Given the description of an element on the screen output the (x, y) to click on. 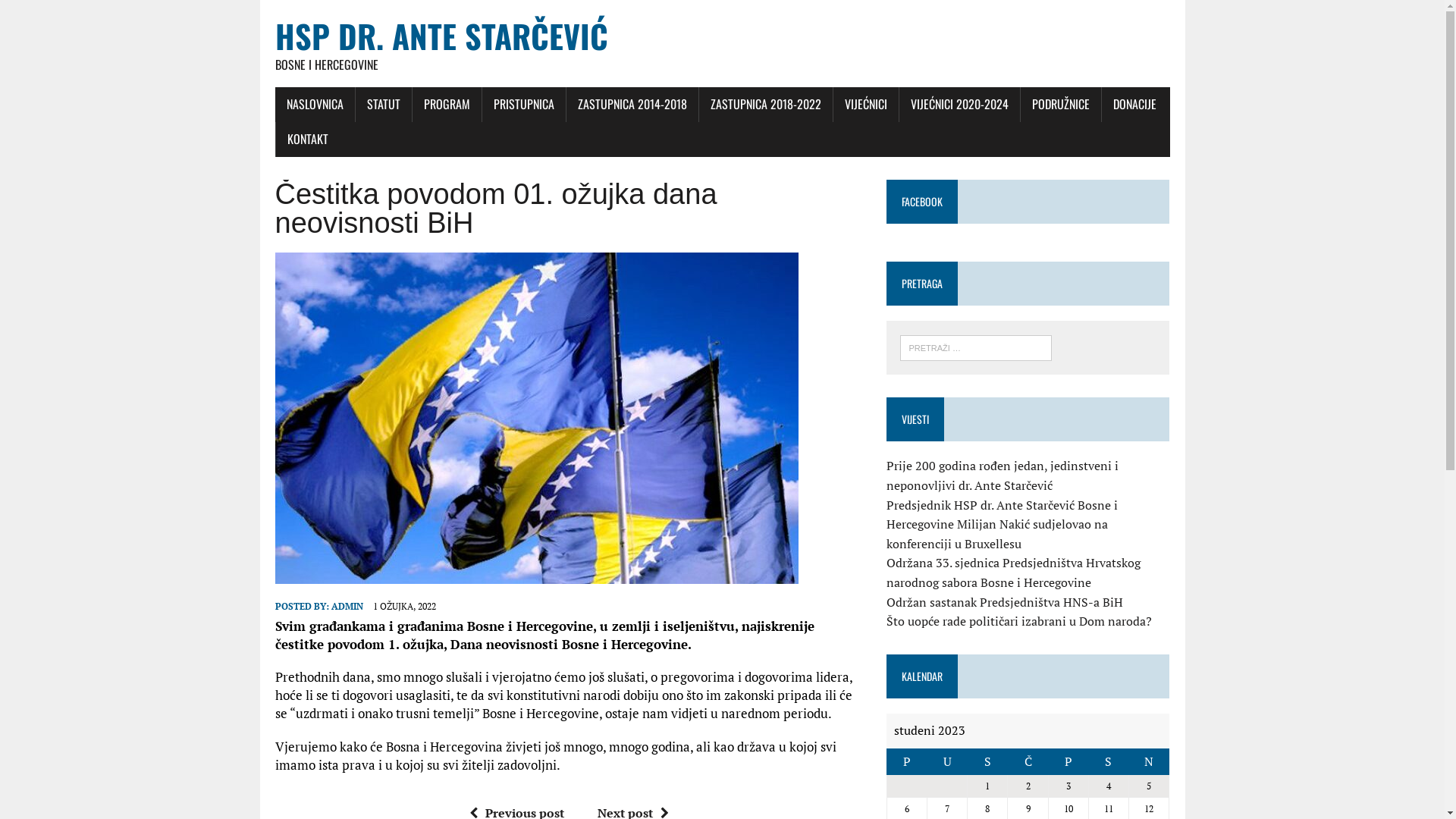
KONTAKT Element type: text (307, 139)
ZASTUPNICA 2018-2022 Element type: text (765, 104)
PROGRAM Element type: text (446, 104)
ADMIN Element type: text (346, 605)
ZASTUPNICA 2014-2018 Element type: text (631, 104)
PRISTUPNICA Element type: text (523, 104)
NASLOVNICA Element type: text (314, 104)
DONACIJE Element type: text (1134, 104)
STATUT Element type: text (382, 104)
